Given the description of an element on the screen output the (x, y) to click on. 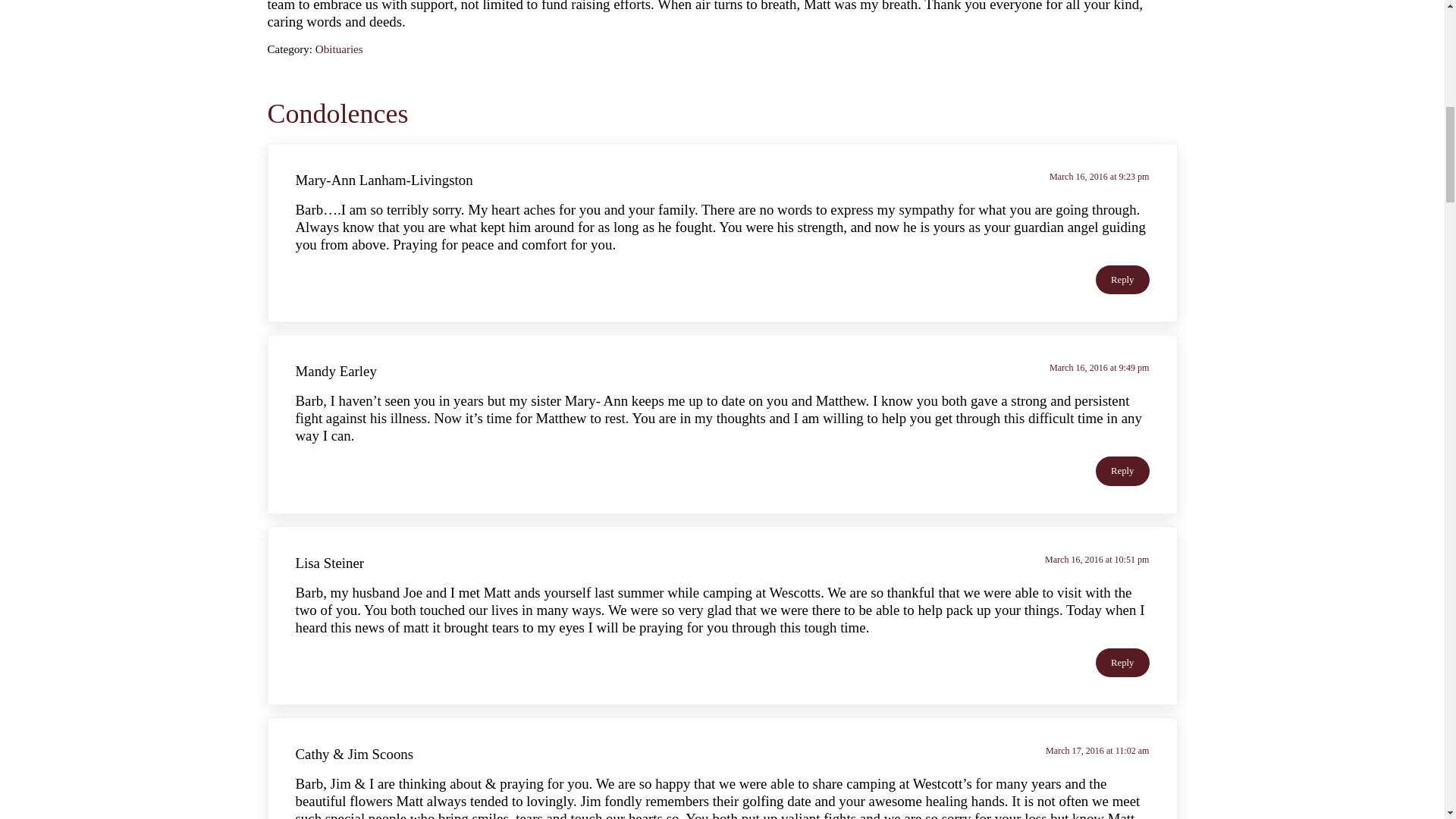
Reply (1123, 279)
March 16, 2016 at 9:49 pm (1099, 367)
March 17, 2016 at 11:02 am (1096, 750)
March 16, 2016 at 10:51 pm (1097, 559)
March 16, 2016 at 9:23 pm (1099, 176)
Obituaries (338, 49)
Reply (1123, 470)
Reply (1123, 662)
